Given the description of an element on the screen output the (x, y) to click on. 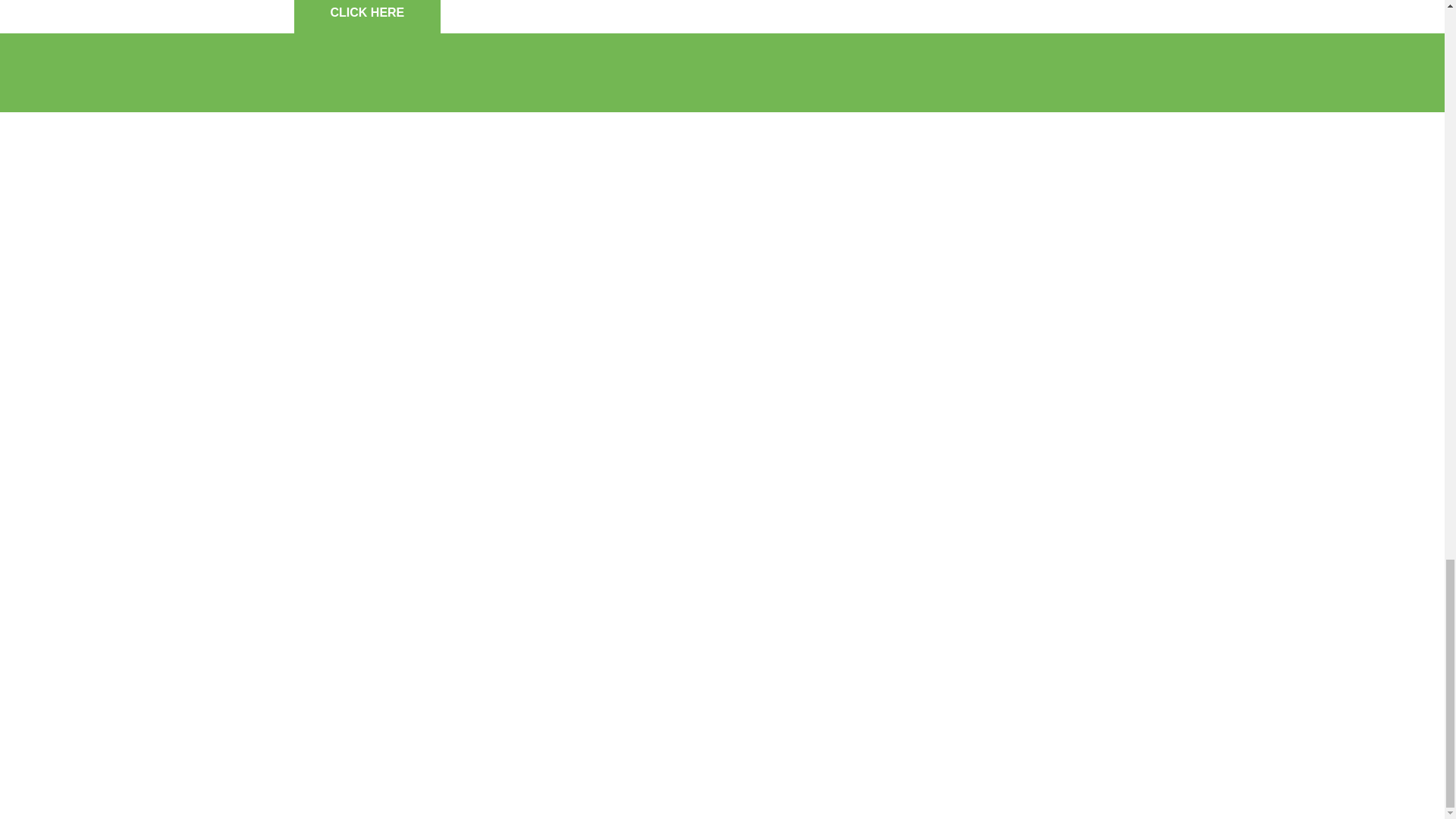
Enmin Vibratory Equipment (838, 70)
